Given the description of an element on the screen output the (x, y) to click on. 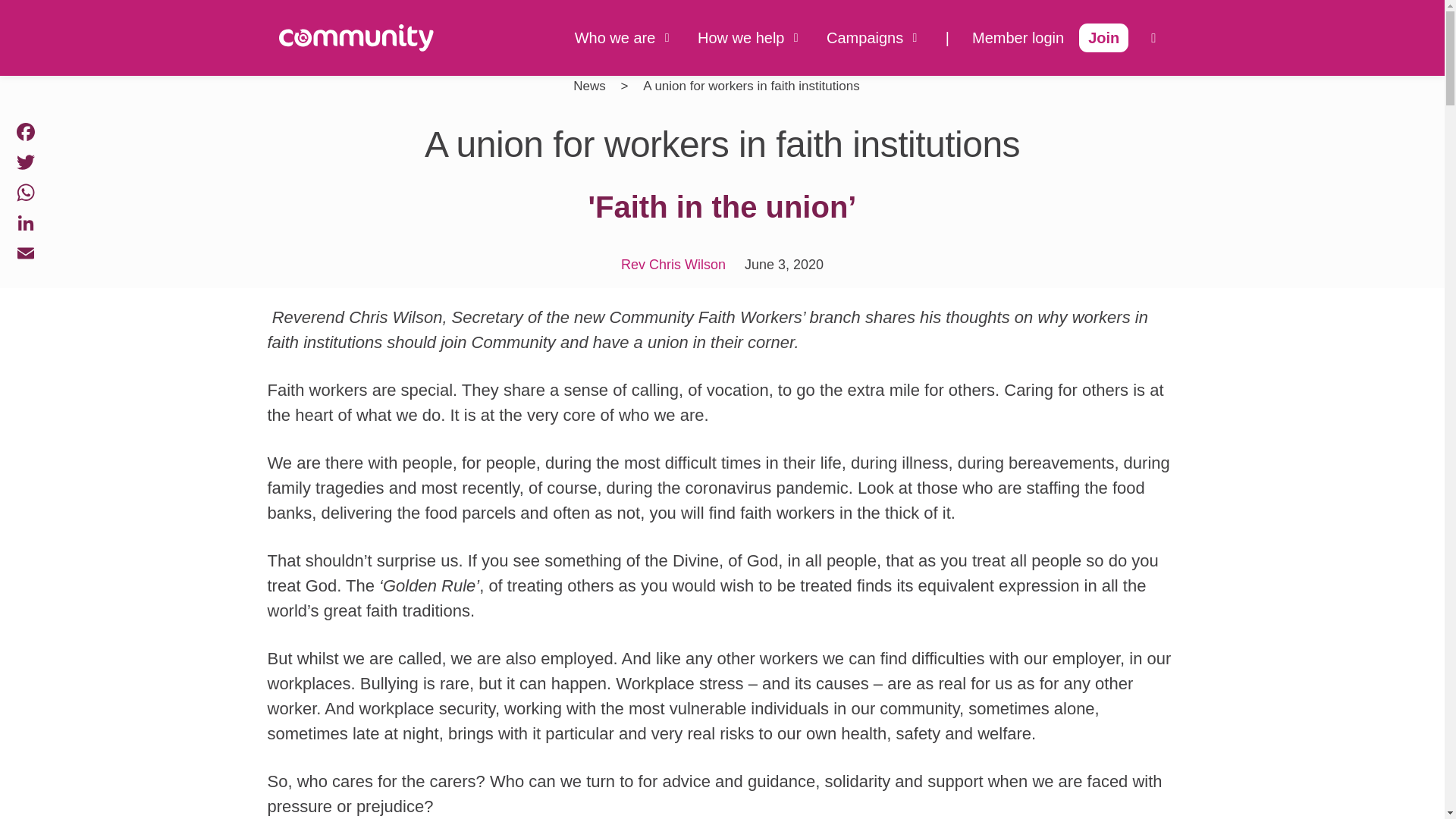
Email (25, 253)
News (592, 86)
Join (1103, 37)
Twitter (25, 162)
LinkedIn (25, 223)
A union for workers in faith institutions (750, 86)
WhatsApp (25, 192)
Posts by Rev Chris Wilson (673, 264)
How we help (750, 37)
Facebook (25, 132)
Campaigns (875, 37)
Member login (1018, 37)
Who we are (625, 37)
